Given the description of an element on the screen output the (x, y) to click on. 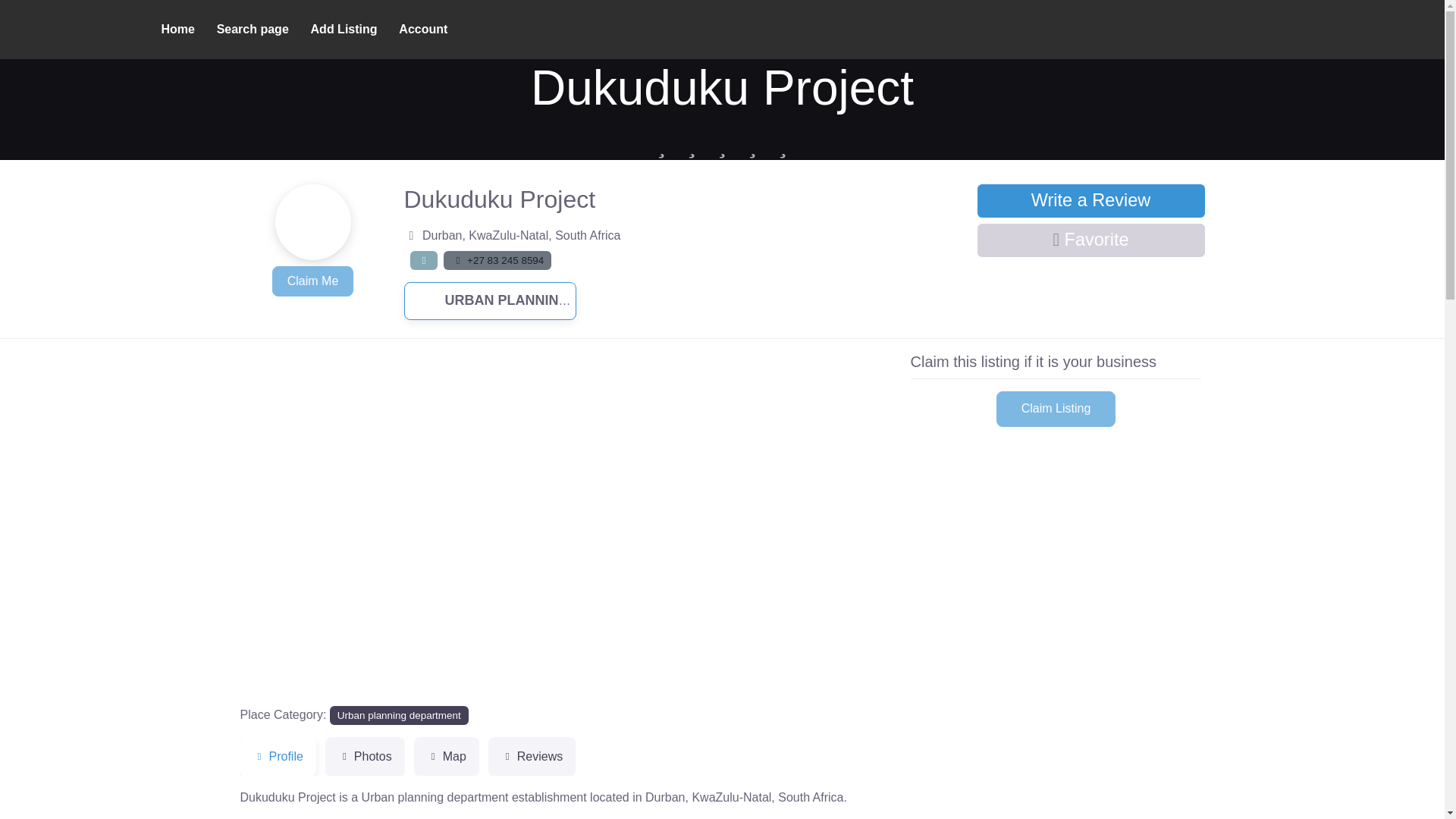
Map (446, 756)
Home (177, 29)
No rating yet! (721, 144)
Reviews (531, 756)
Account (423, 29)
Claim Listing (1055, 408)
Reviews (531, 756)
Claim Me (312, 281)
URBAN PLANNING DEPARTMENT (536, 299)
Write a Review (1090, 200)
